Given the description of an element on the screen output the (x, y) to click on. 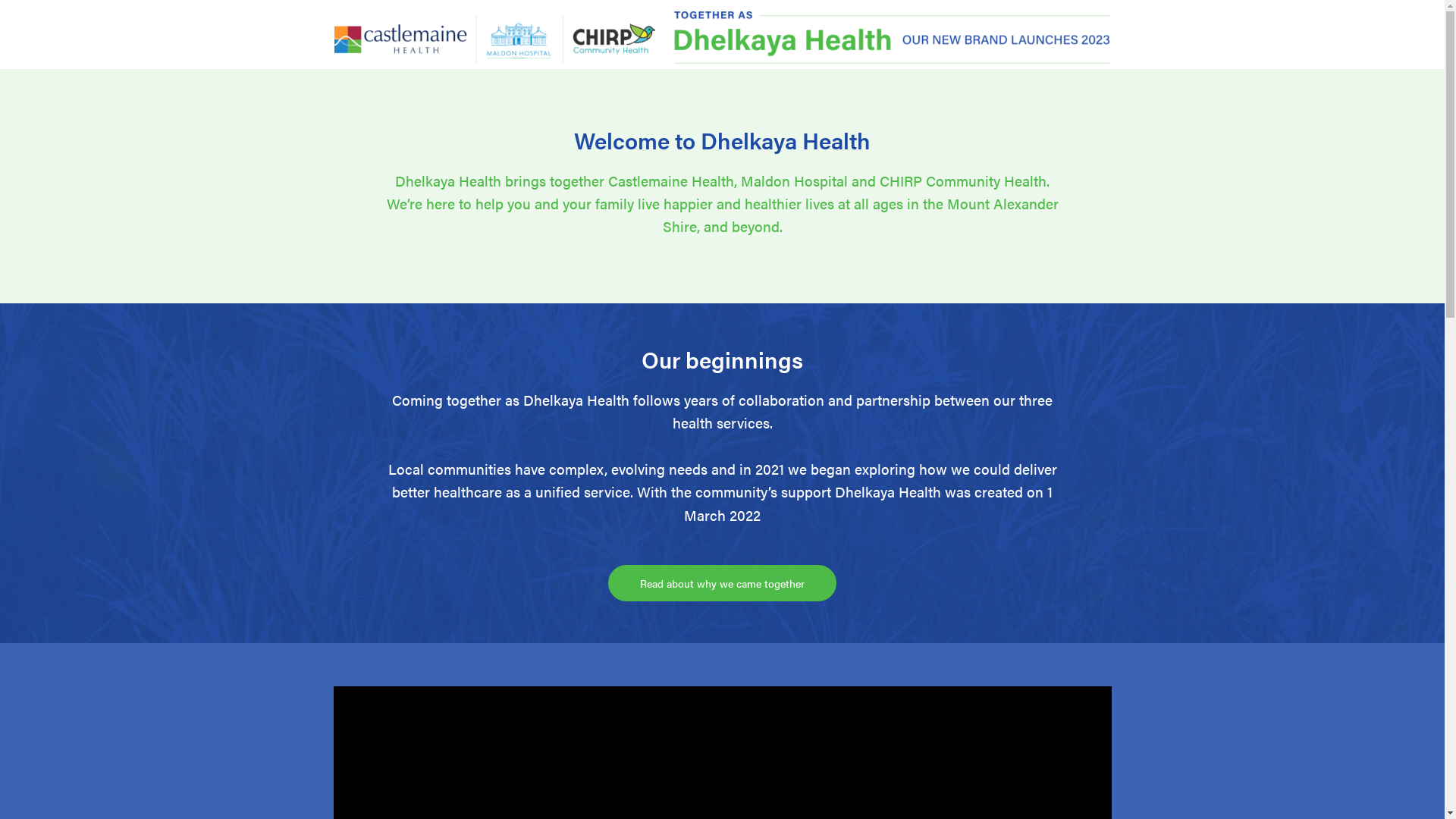
Read about why we came together Element type: text (722, 582)
